Given the description of an element on the screen output the (x, y) to click on. 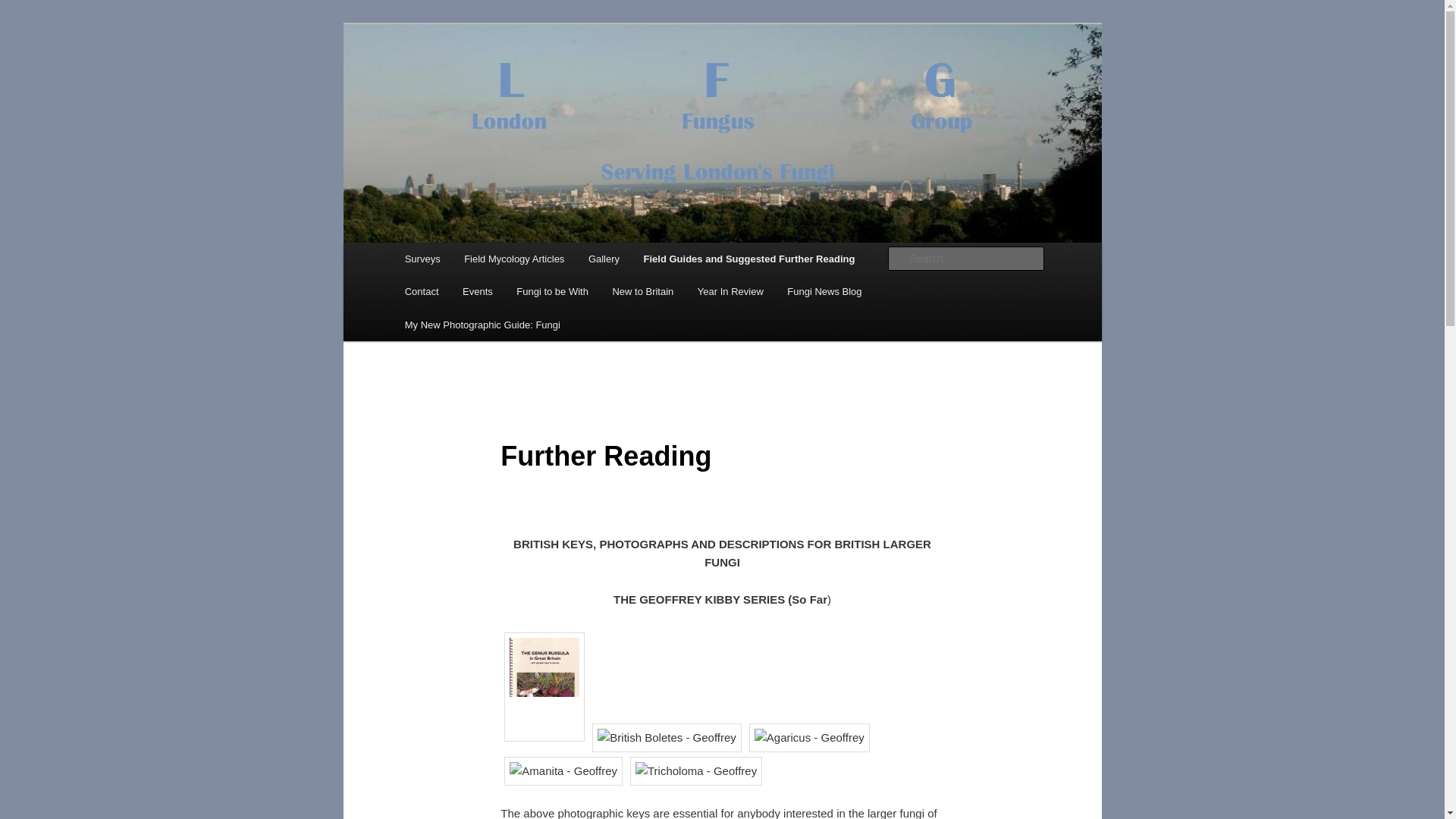
Fungi to be With (552, 291)
Field Mycology Articles (513, 258)
New to Britain (642, 291)
Events (476, 291)
Surveys (422, 258)
London Fungus Group (523, 140)
Skip to primary content (86, 31)
Contact (421, 291)
Search (24, 8)
Field Guides and Suggested Further Reading (748, 258)
